Given the description of an element on the screen output the (x, y) to click on. 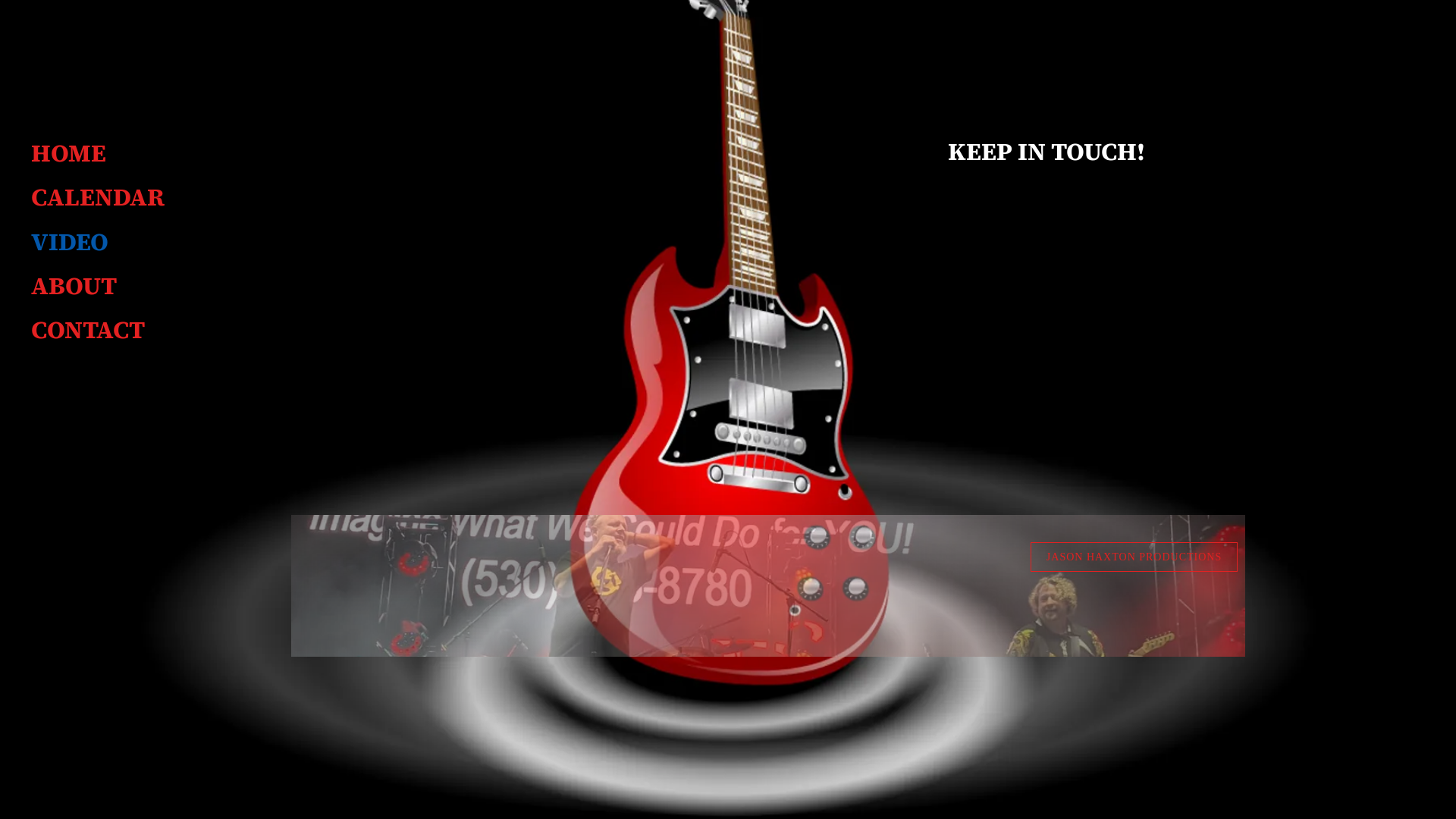
CONTACT Element type: text (87, 329)
ABOUT Element type: text (73, 285)
HOME Element type: text (68, 152)
VIDEO Element type: text (69, 241)
CALENDAR Element type: text (97, 196)
JASON HAXTON PRODUCTIONS Element type: text (1133, 557)
